Given the description of an element on the screen output the (x, y) to click on. 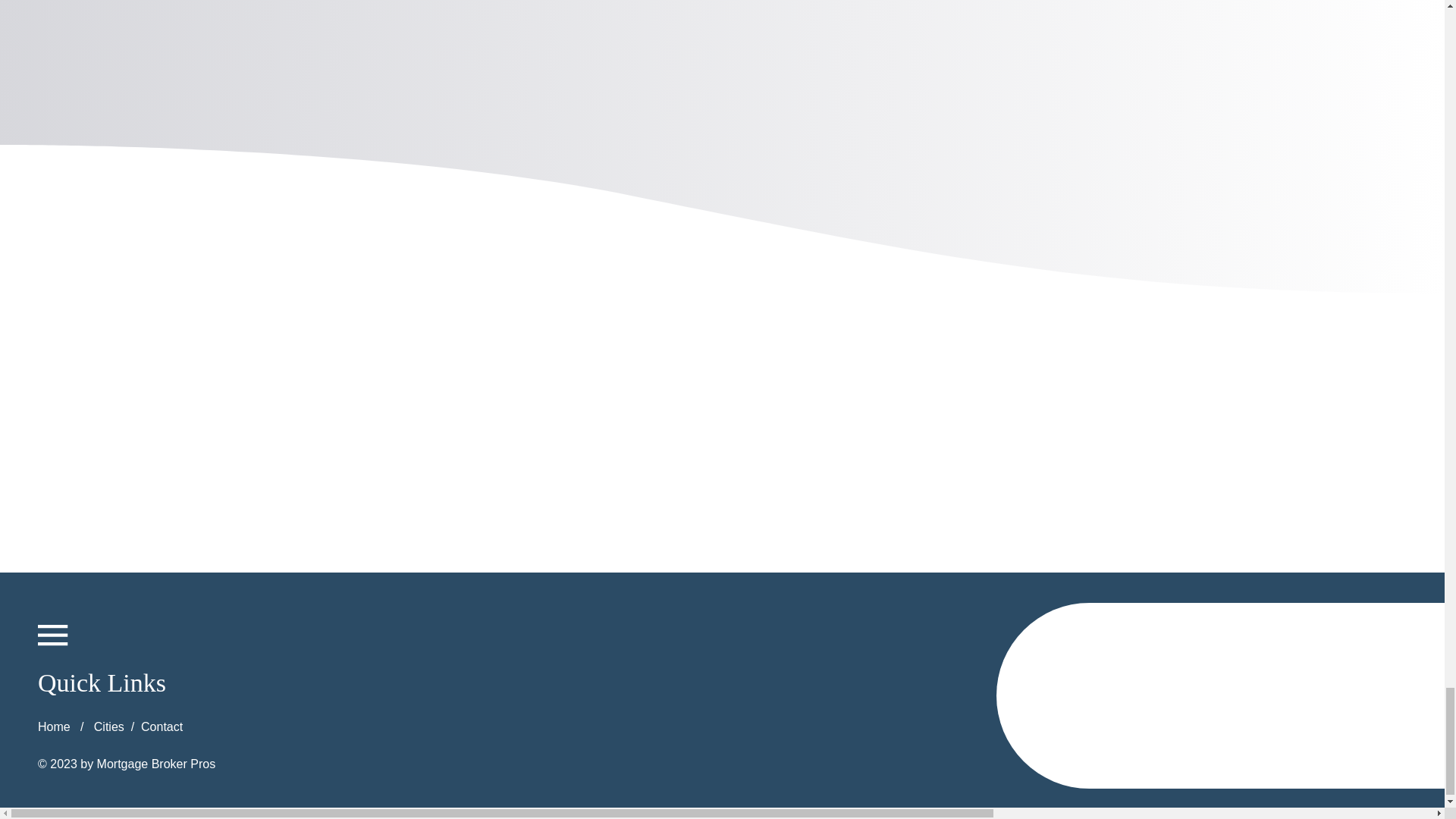
Contact (162, 726)
Cities (108, 726)
Home (53, 726)
